Given the description of an element on the screen output the (x, y) to click on. 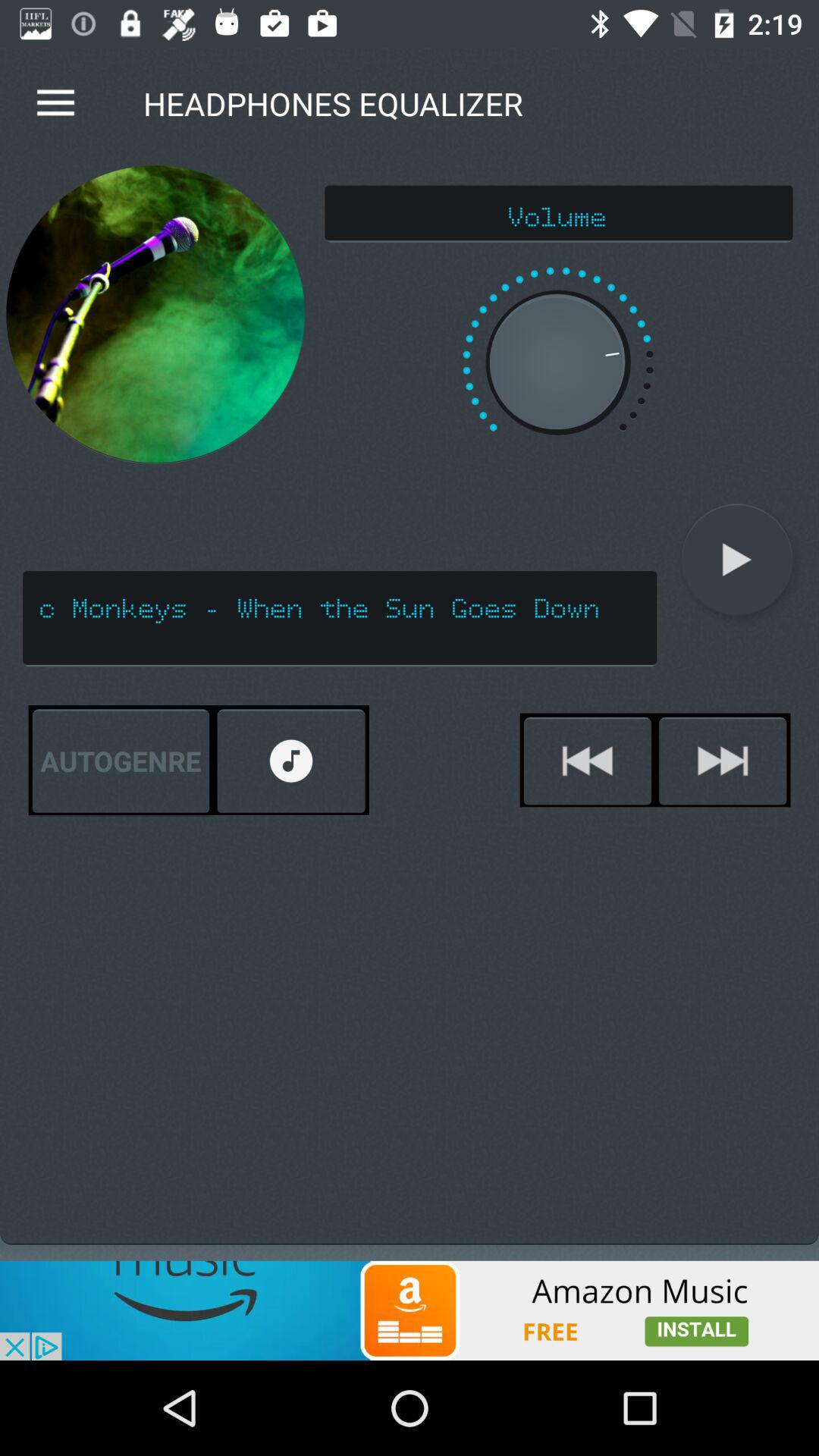
turn off item next to autogenre icon (291, 760)
